Given the description of an element on the screen output the (x, y) to click on. 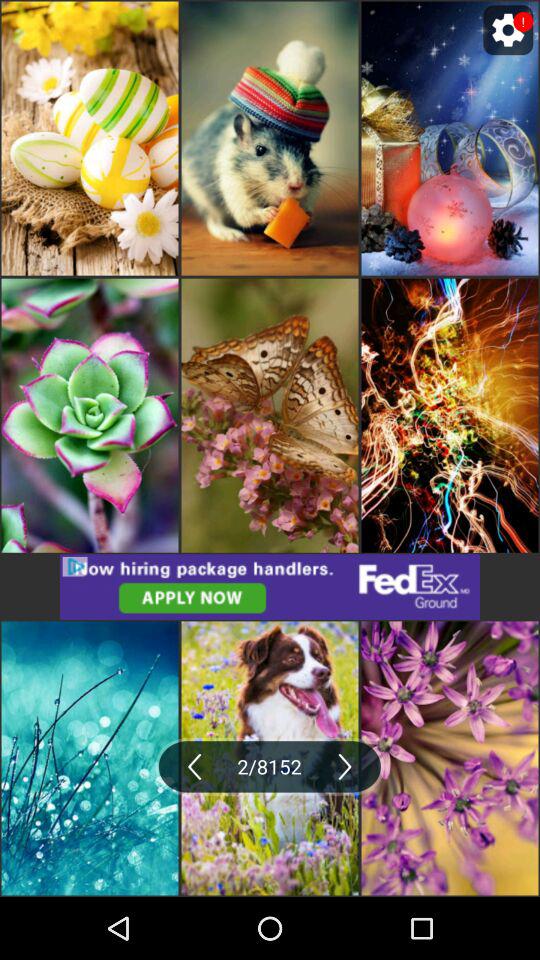
advertisement (270, 586)
